Given the description of an element on the screen output the (x, y) to click on. 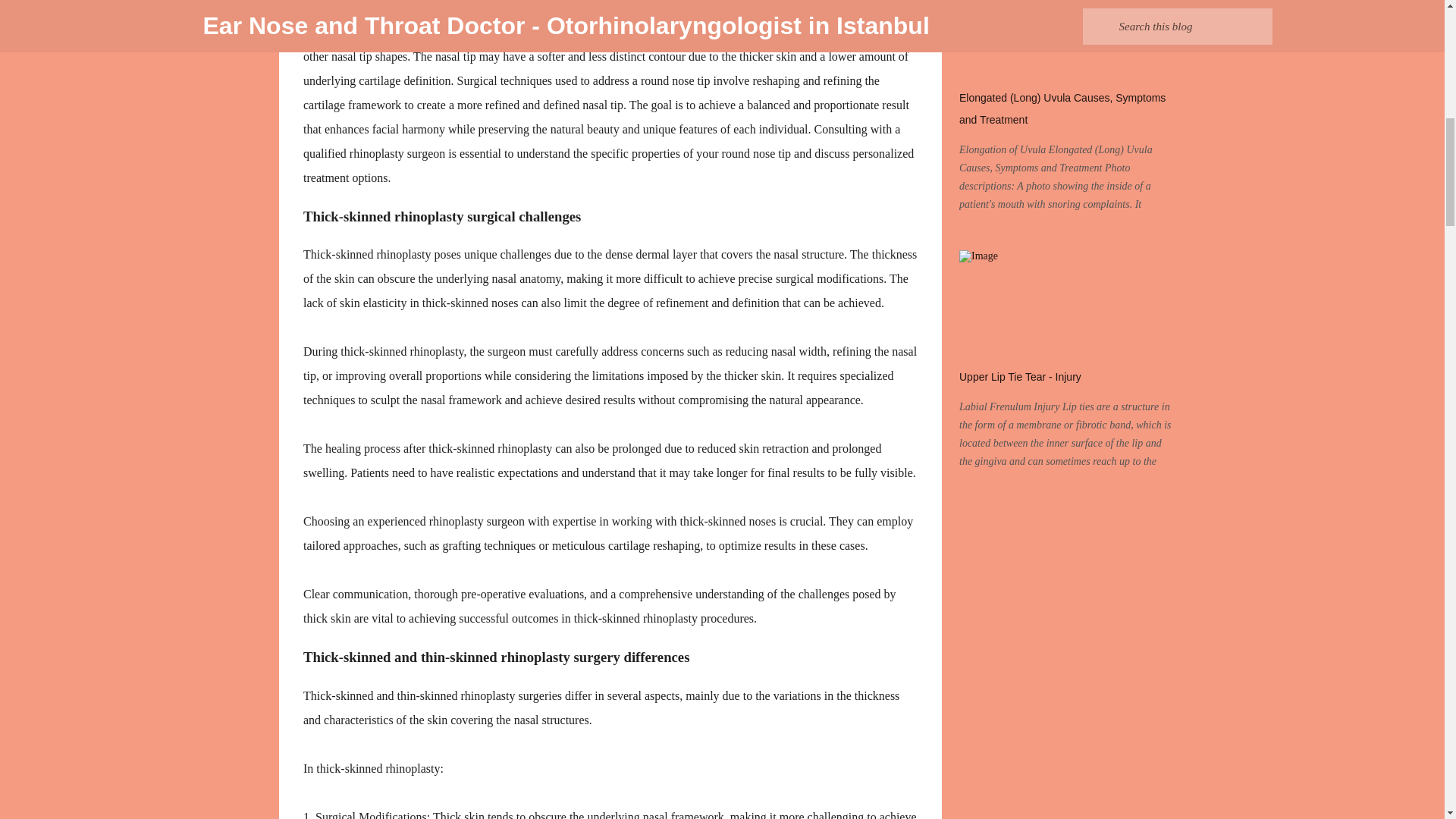
Upper Lip Tie Tear - Injury (1020, 377)
